Given the description of an element on the screen output the (x, y) to click on. 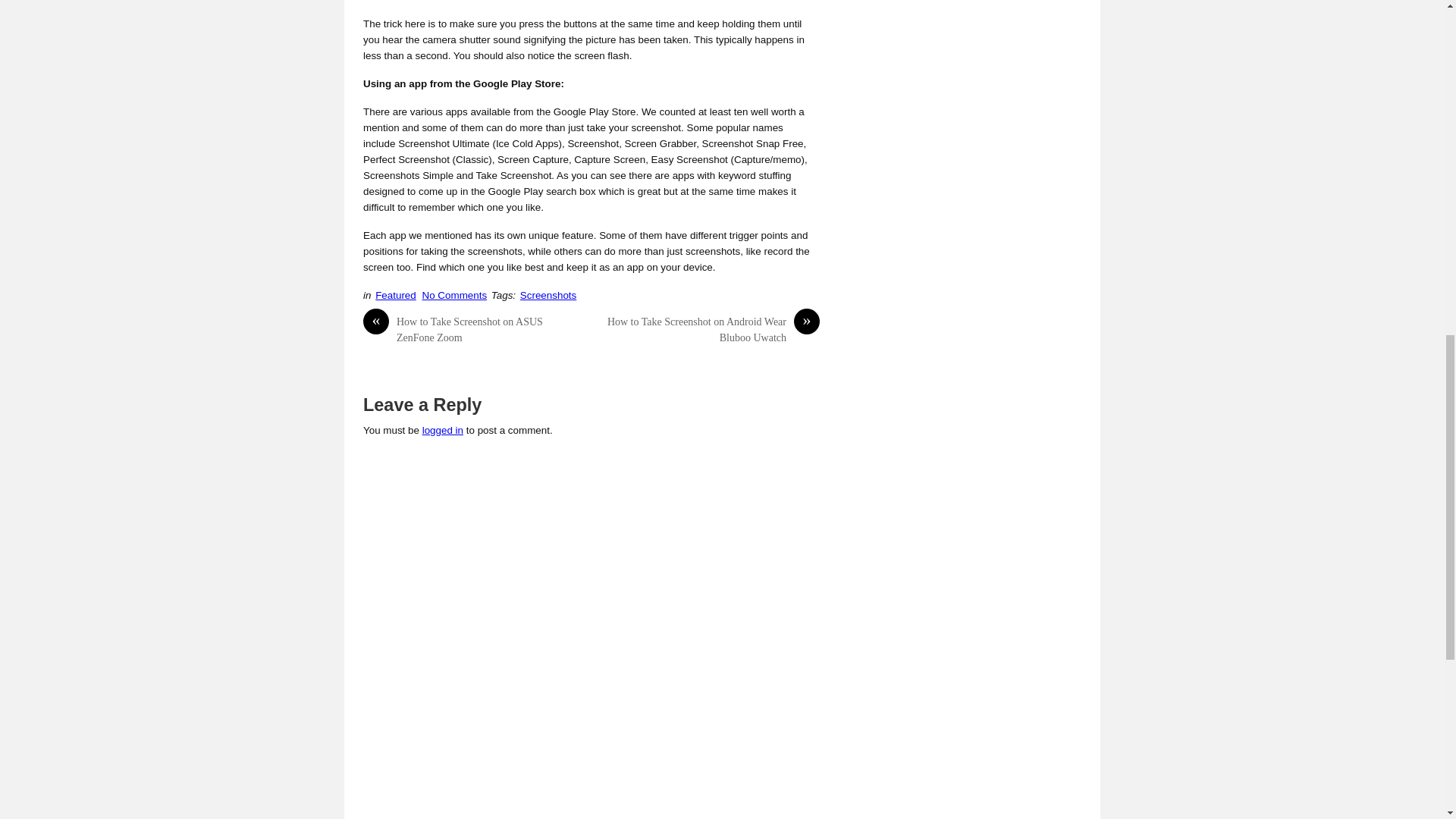
No Comments (454, 295)
Screenshots (548, 295)
Featured (395, 295)
